Given the description of an element on the screen output the (x, y) to click on. 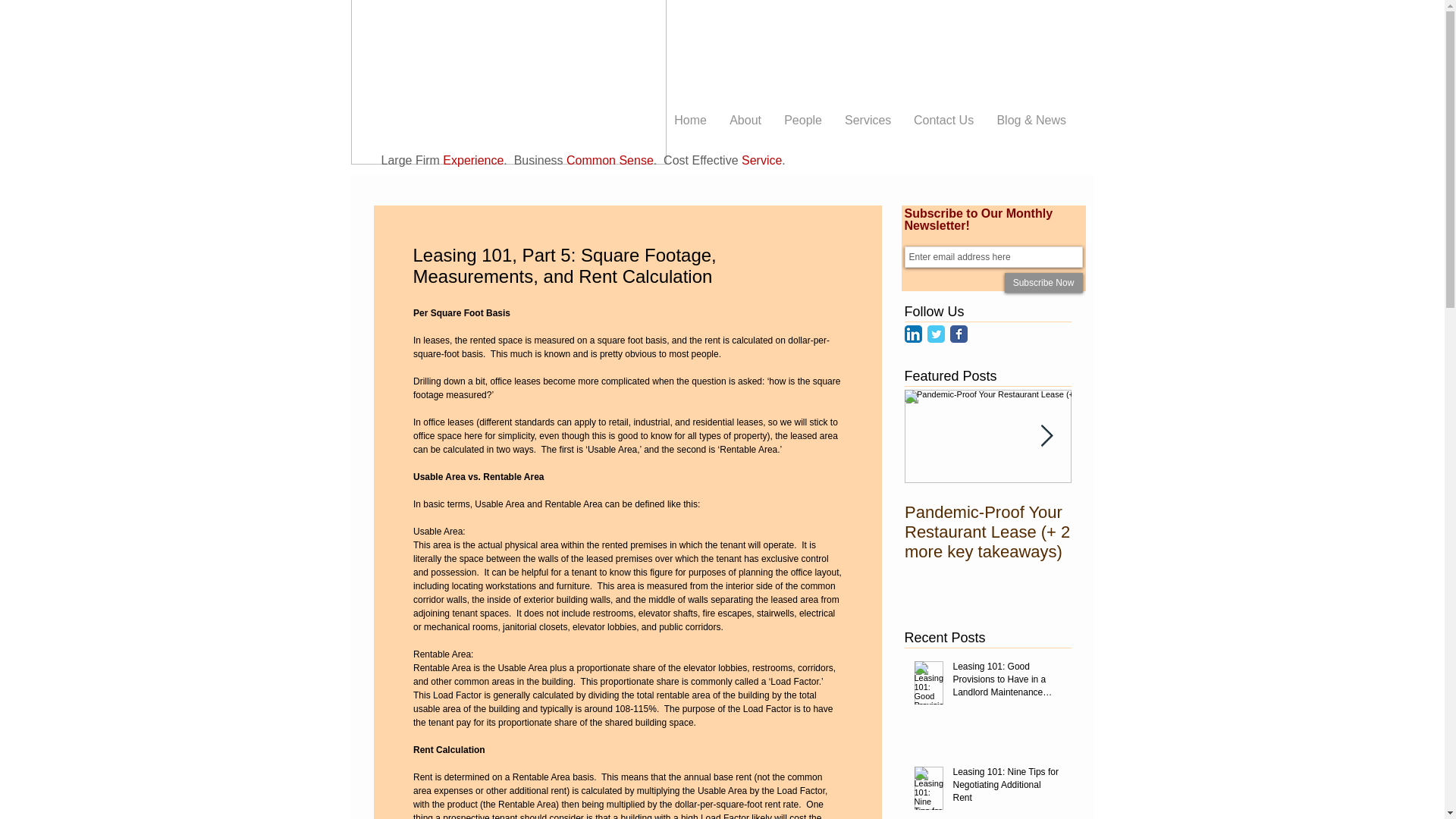
Leasing 101: Nine Tips for Negotiating Additional Rent (1006, 787)
Subscribe Now (1042, 282)
